Given the description of an element on the screen output the (x, y) to click on. 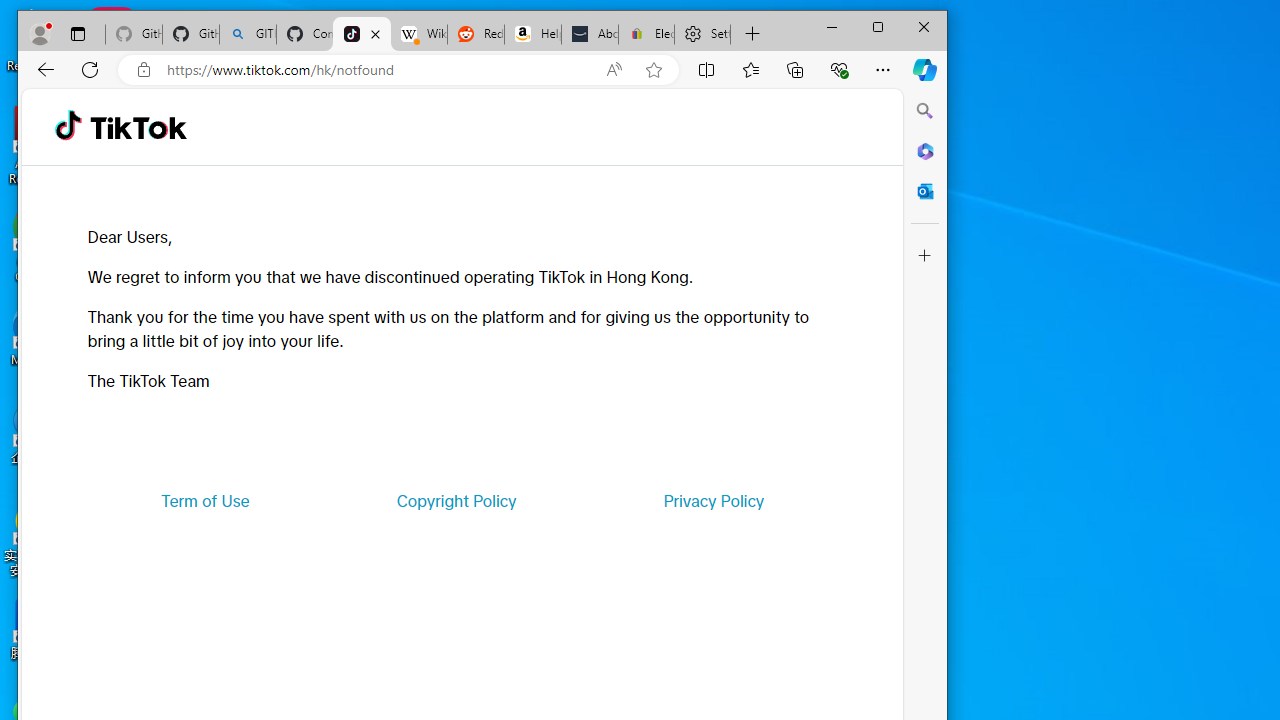
Copyright Policy (456, 500)
TikTok (138, 126)
Help & Contact Us - Amazon Customer Service (532, 34)
GITHUB - Search (248, 34)
Maximize (878, 26)
Privacy Policy (713, 500)
